Given the description of an element on the screen output the (x, y) to click on. 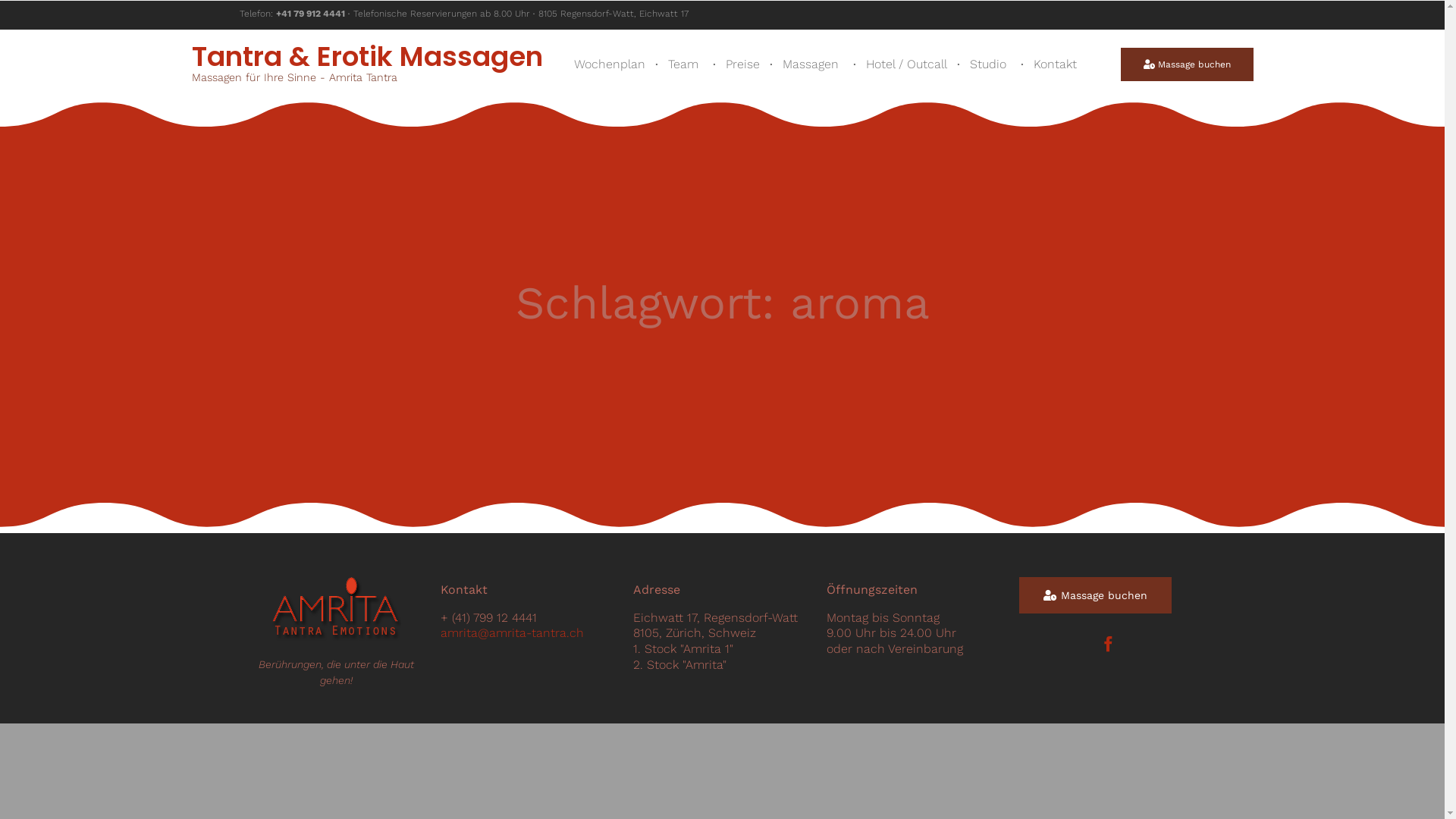
Preise Element type: text (742, 64)
Massagen Element type: text (812, 64)
Amrita-Tantra-Emotions-Massagestudio-Logo Element type: hover (336, 609)
Wochenplan Element type: text (609, 64)
amrita@amrita-tantra.ch Element type: text (511, 632)
+41 79 912 4441 Element type: text (310, 13)
Kontakt Element type: text (1057, 64)
Skip to content Element type: text (1096, 33)
Tantra & Erotik Massagen Element type: text (366, 56)
Team Element type: text (685, 64)
Studio Element type: text (990, 64)
Hotel / Outcall Element type: text (906, 64)
Massage buchen Element type: text (1095, 595)
+ (41) 799 12 4441 Element type: text (488, 617)
Massage buchen Element type: text (1186, 64)
